Given the description of an element on the screen output the (x, y) to click on. 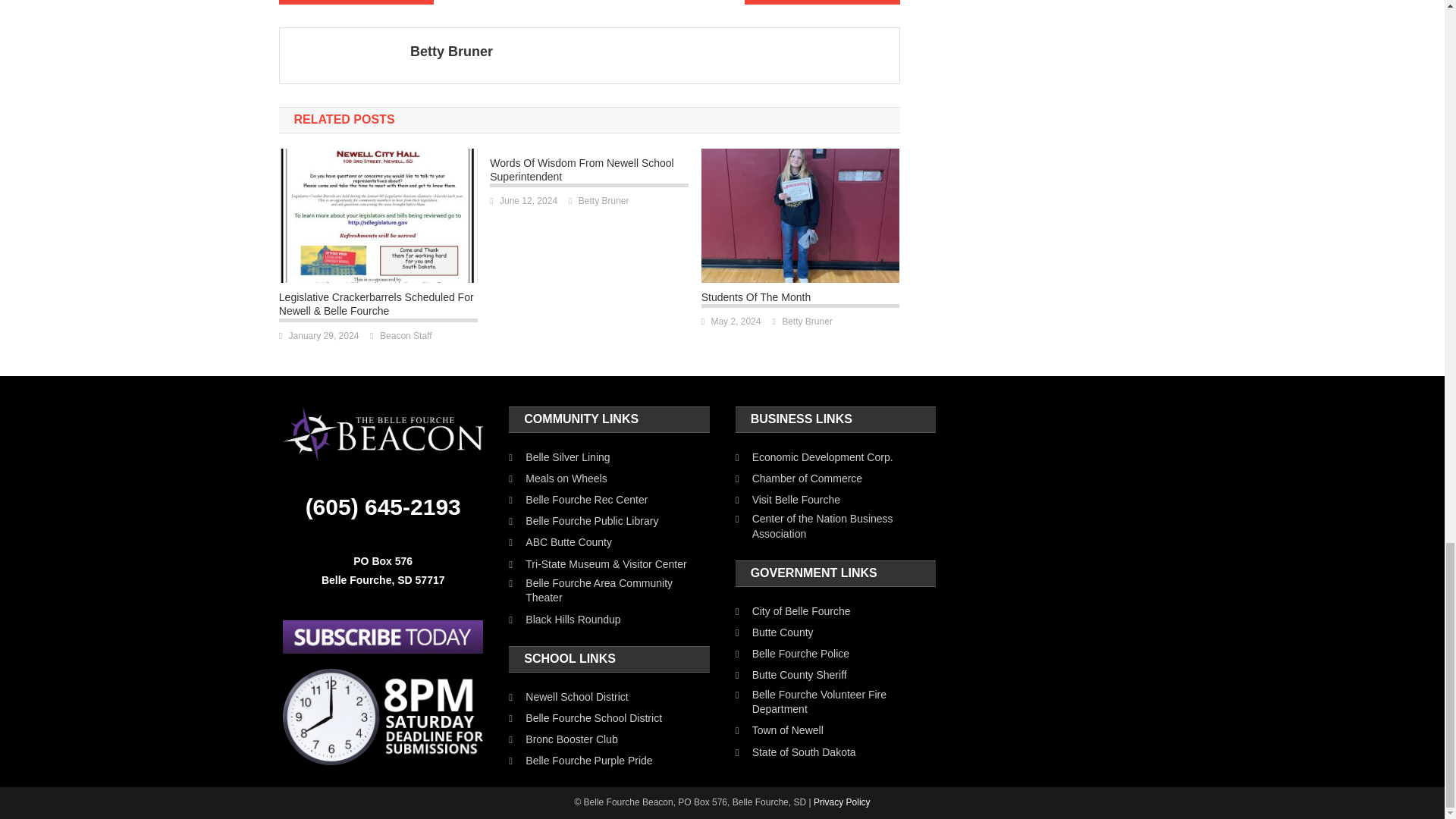
City Business (356, 2)
Betty Bruner (649, 51)
Potato Topper Supper Fundraiser (821, 2)
